Given the description of an element on the screen output the (x, y) to click on. 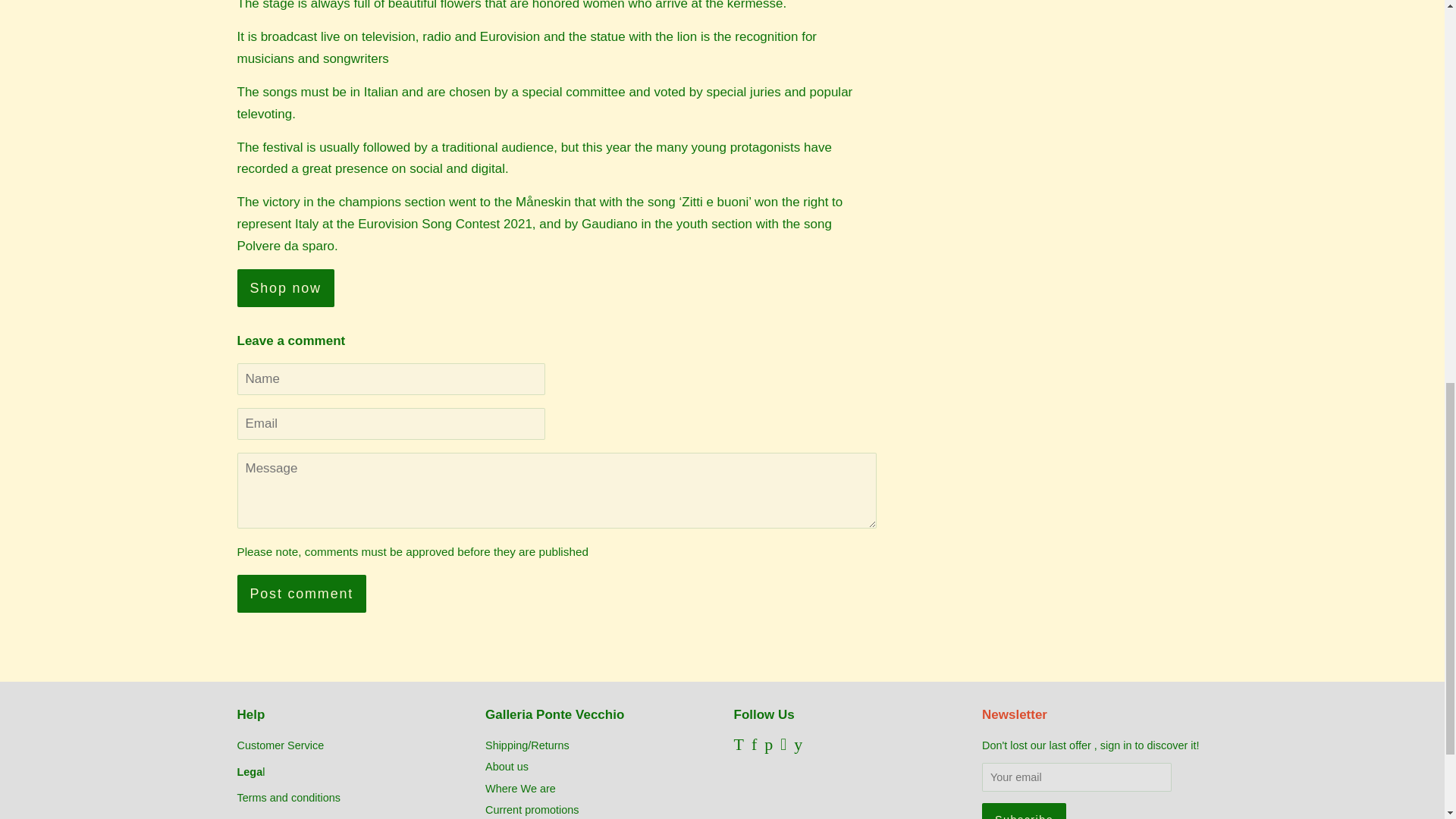
Terms of Service and Conditions of Sale (287, 797)
ceramichepontevecchio.com on Twitter (738, 746)
Subscribe (1023, 811)
Post comment (300, 593)
ceramichepontevecchio.com on YouTube (797, 746)
ceramichepontevecchio.com on Facebook (754, 746)
ceramichepontevecchio.com on Pinterest (768, 746)
ceramichepontevecchio.com on Instagram (783, 746)
Custumer Service (279, 745)
